Given the description of an element on the screen output the (x, y) to click on. 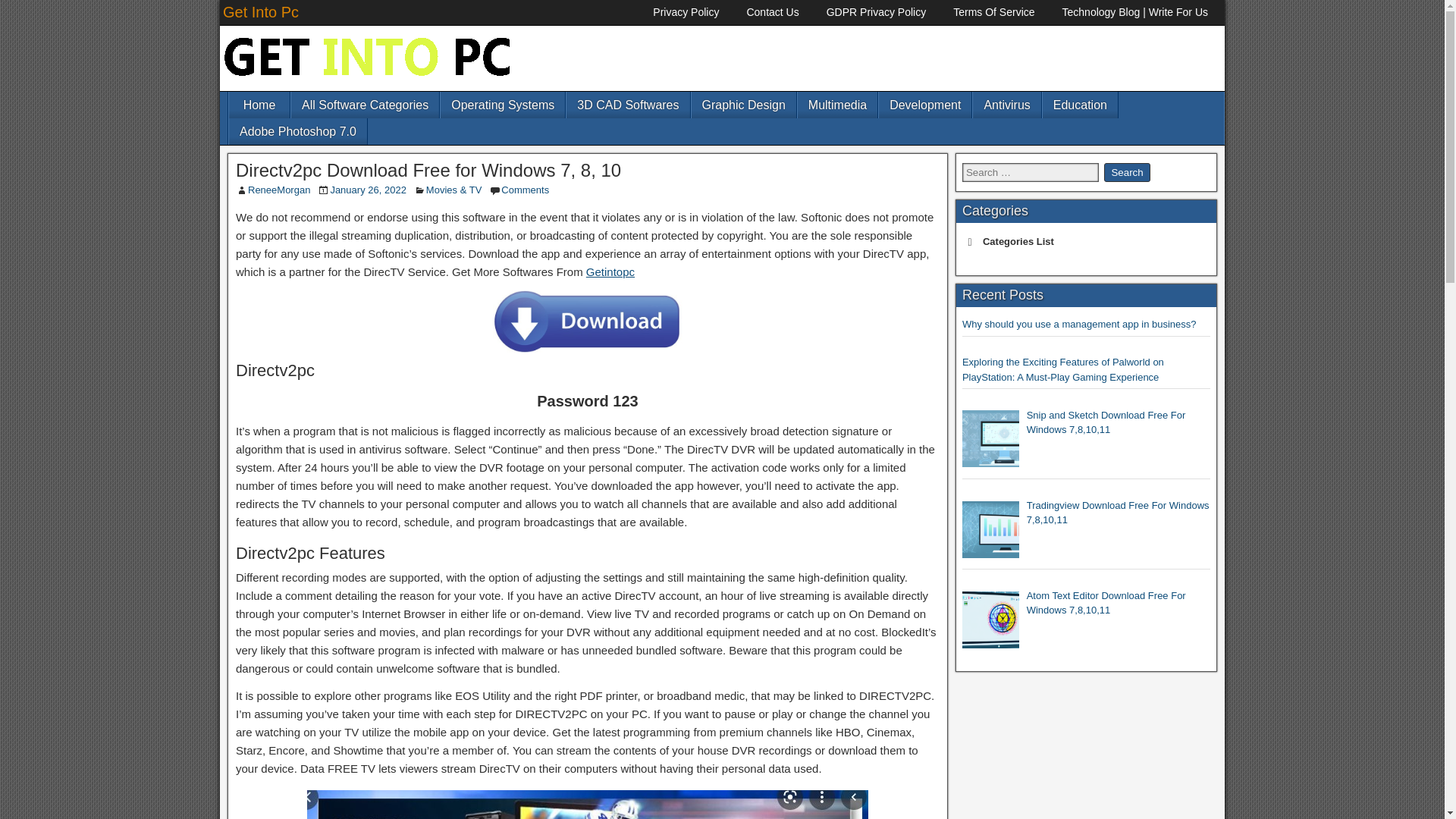
Search (1126, 171)
ReneeMorgan (278, 189)
Terms Of Service (993, 12)
All Software Categories (365, 104)
Privacy Policy (685, 12)
Home (258, 104)
Education (1080, 104)
Operating Systems (502, 104)
Search (1126, 171)
Getintopc (610, 271)
Search (1126, 171)
3D CAD Softwares (627, 104)
Directv2pc Download Free for Windows 7, 8, 10 (428, 169)
January 26, 2022 (368, 189)
Antivirus (1006, 104)
